Given the description of an element on the screen output the (x, y) to click on. 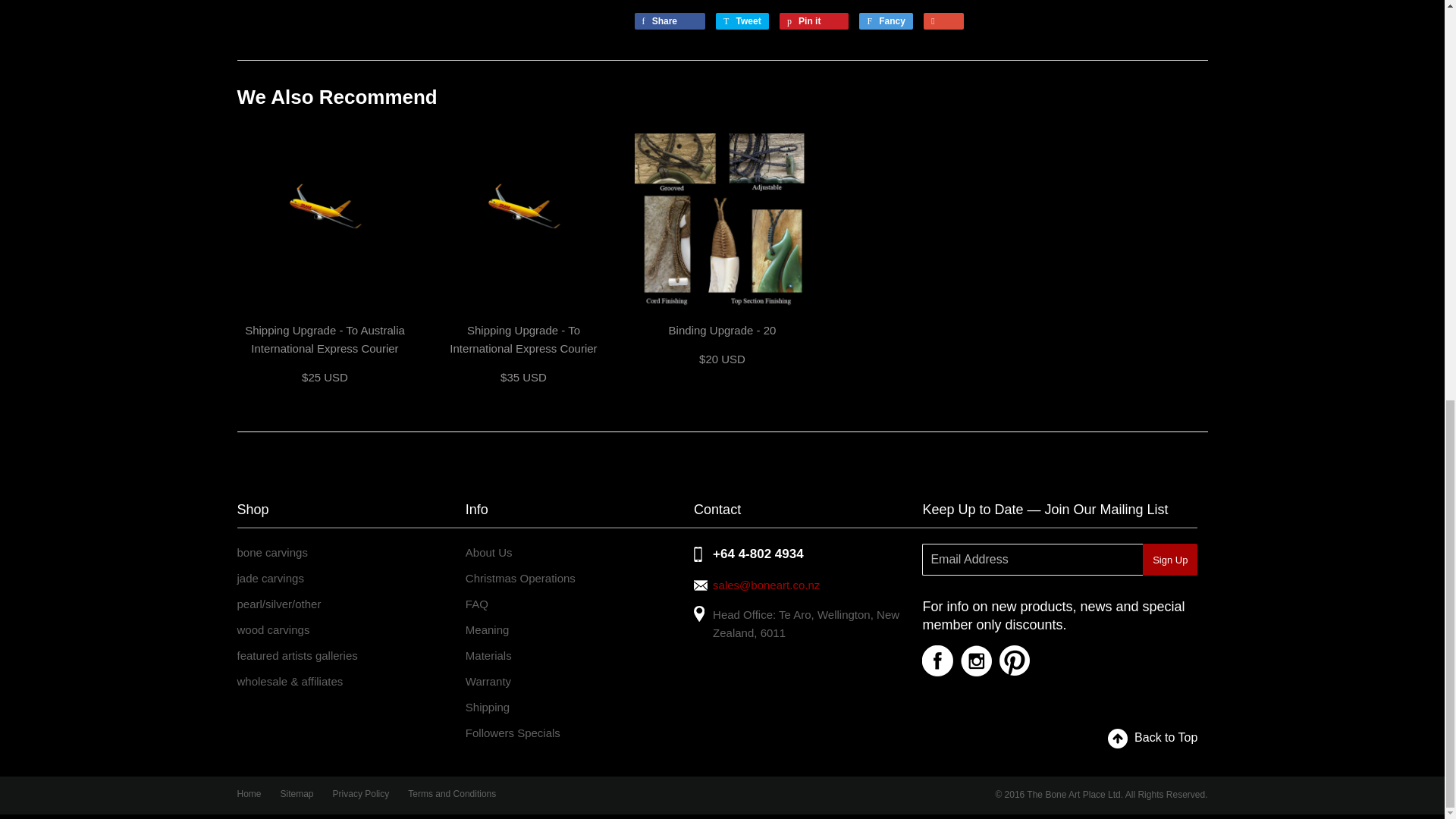
Sign Up (1169, 559)
